Given the description of an element on the screen output the (x, y) to click on. 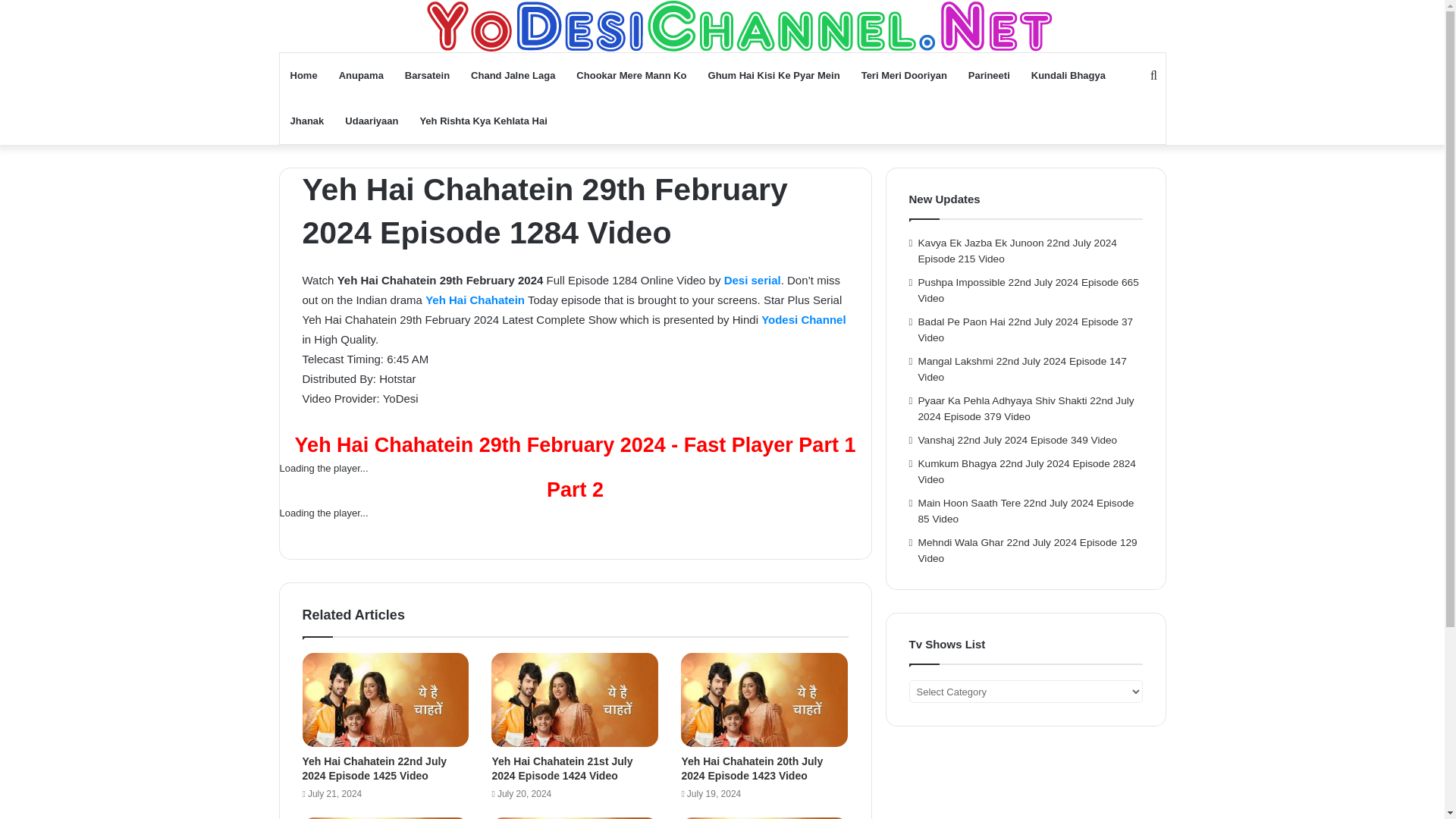
Mehndi Wala Ghar 22nd July 2024 Episode 129 Video (1027, 550)
Main Hoon Saath Tere 22nd July 2024 Episode 85 Video (1026, 510)
Ghum Hai Kisi Ke Pyar Mein (773, 75)
Yeh Hai Chahatein 20th July 2024 Episode 1423 Video (751, 768)
Yodesi Channel (722, 26)
Teri Meri Dooriyan (904, 75)
Pushpa Impossible 22nd July 2024 Episode 665 Video (1028, 289)
Kundali Bhagya (1068, 75)
Chand Jalne Laga (513, 75)
Kumkum Bhagya 22nd July 2024 Episode 2824 Video (1026, 471)
Chookar Mere Mann Ko (631, 75)
Yeh Hai Chahatein 21st July 2024 Episode 1424 Video (561, 768)
Home (303, 75)
Kavya Ek Jazba Ek Junoon 22nd July 2024 Episode 215 Video (1017, 250)
Udaariyaan (371, 121)
